Given the description of an element on the screen output the (x, y) to click on. 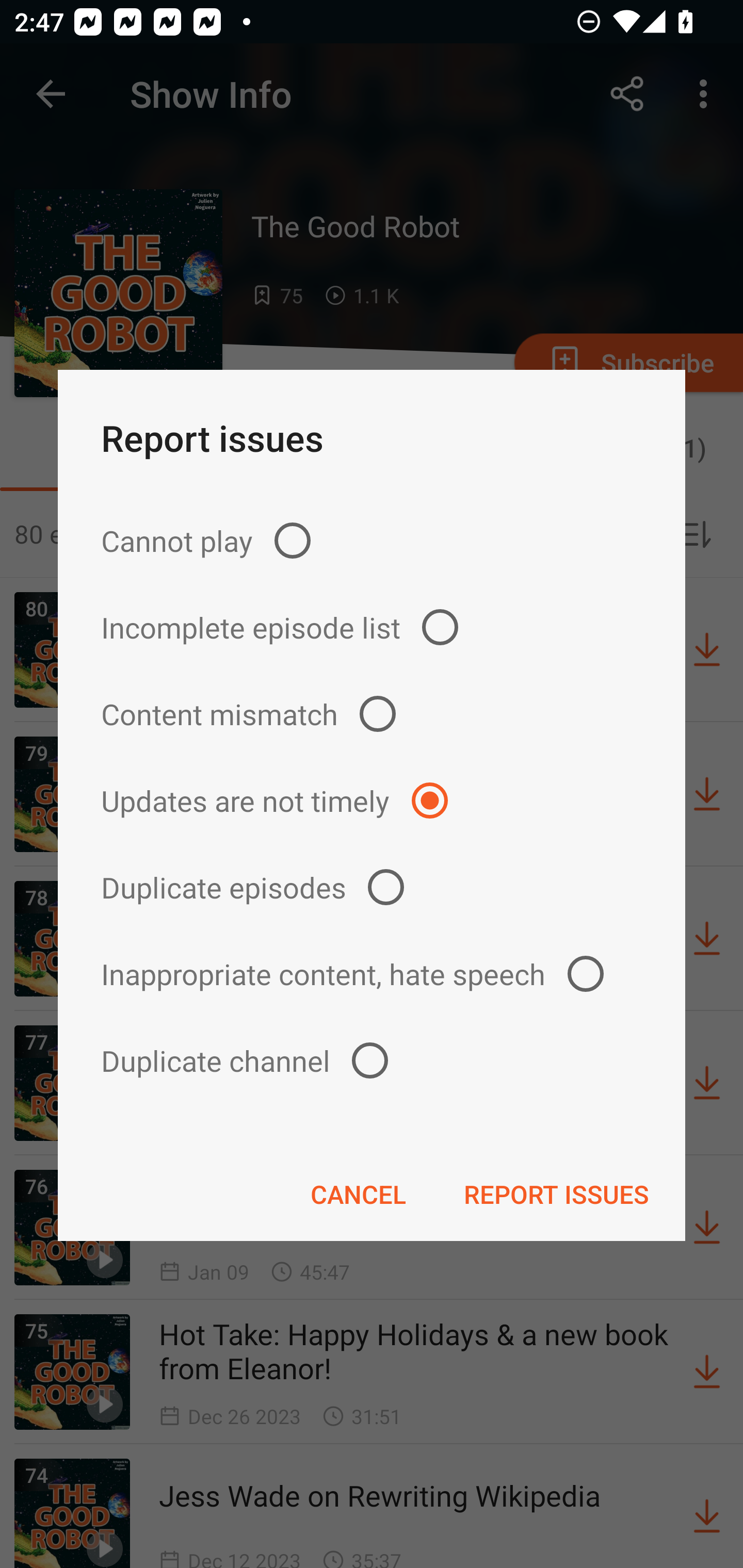
Cannot play (371, 540)
Incomplete episode list (371, 627)
Content mismatch (371, 714)
Updates are not timely (371, 800)
Duplicate episodes (371, 886)
Inappropriate content, hate speech (371, 973)
Duplicate channel (371, 1060)
CANCEL (357, 1193)
REPORT ISSUES (555, 1193)
